Given the description of an element on the screen output the (x, y) to click on. 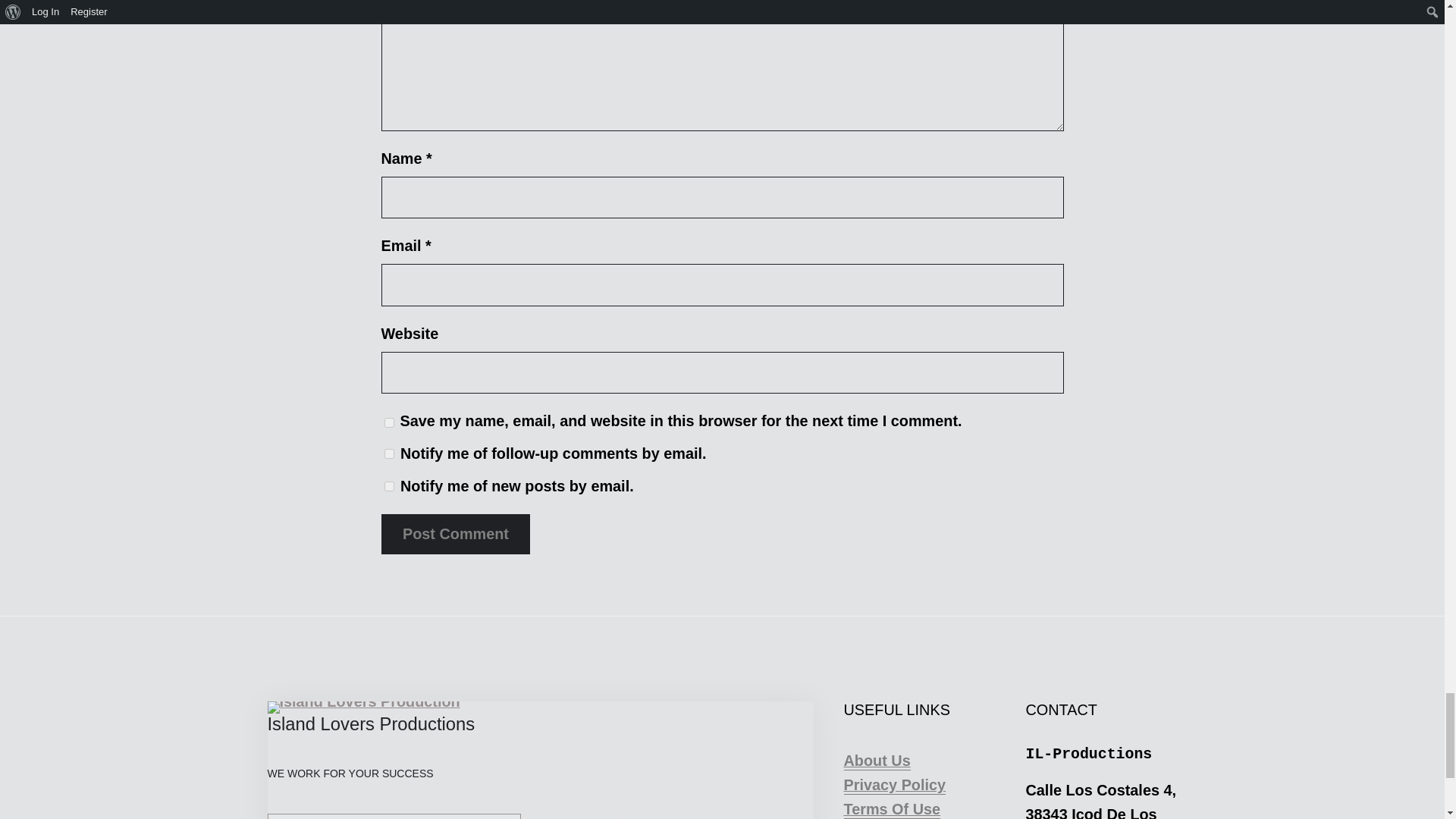
subscribe (388, 453)
subscribe (388, 486)
yes (388, 422)
Post Comment (454, 534)
Search (574, 816)
Post Comment (454, 534)
